Given the description of an element on the screen output the (x, y) to click on. 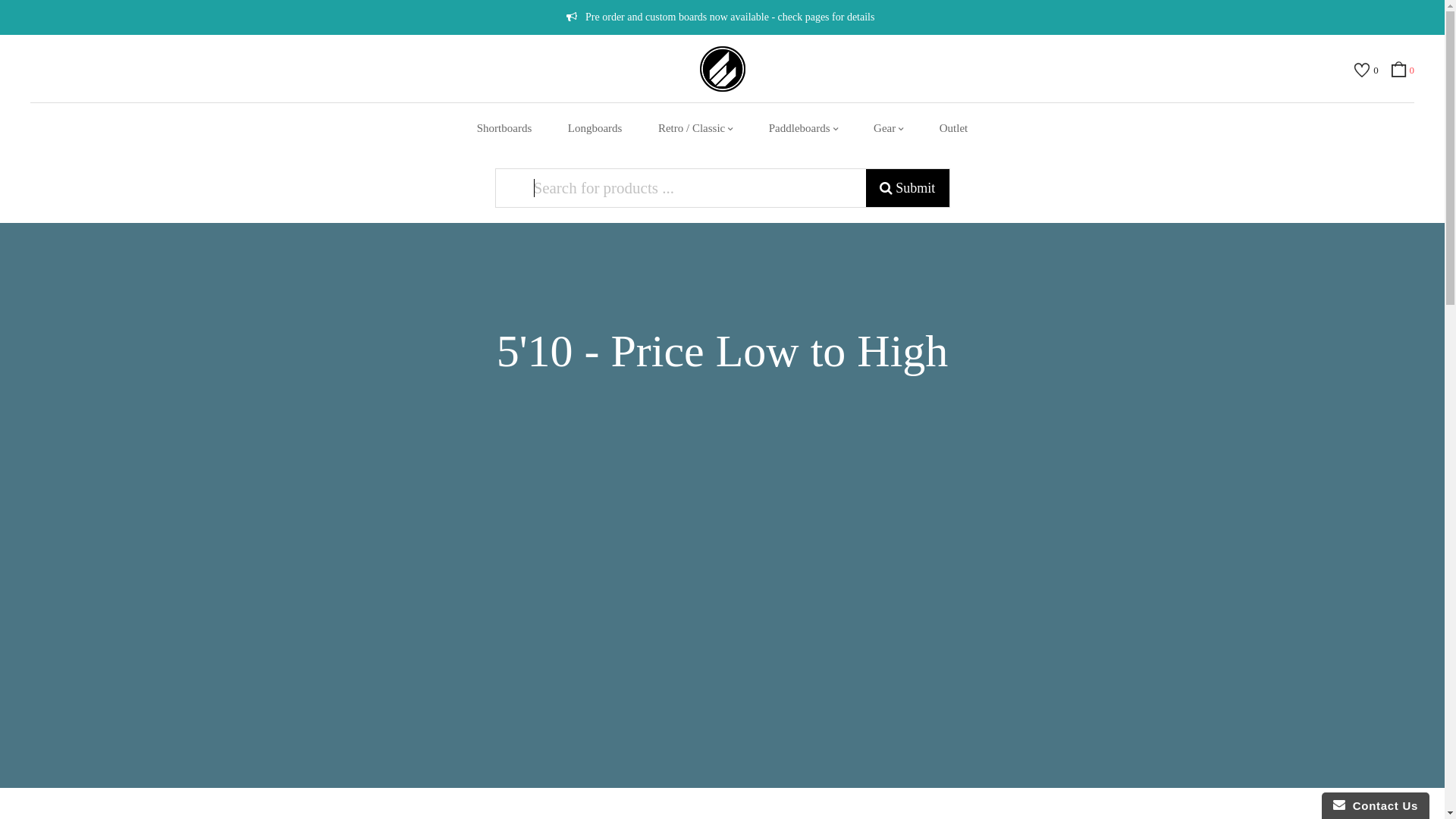
Longboards Element type: text (595, 128)
Shortboards Element type: text (504, 128)
Retro / Classic Element type: text (695, 128)
0 Element type: text (1402, 72)
Submit Element type: text (907, 188)
Paddleboards Element type: text (803, 128)
Outlet Element type: text (953, 128)
0 Element type: text (1368, 72)
Gear Element type: text (887, 128)
